Given the description of an element on the screen output the (x, y) to click on. 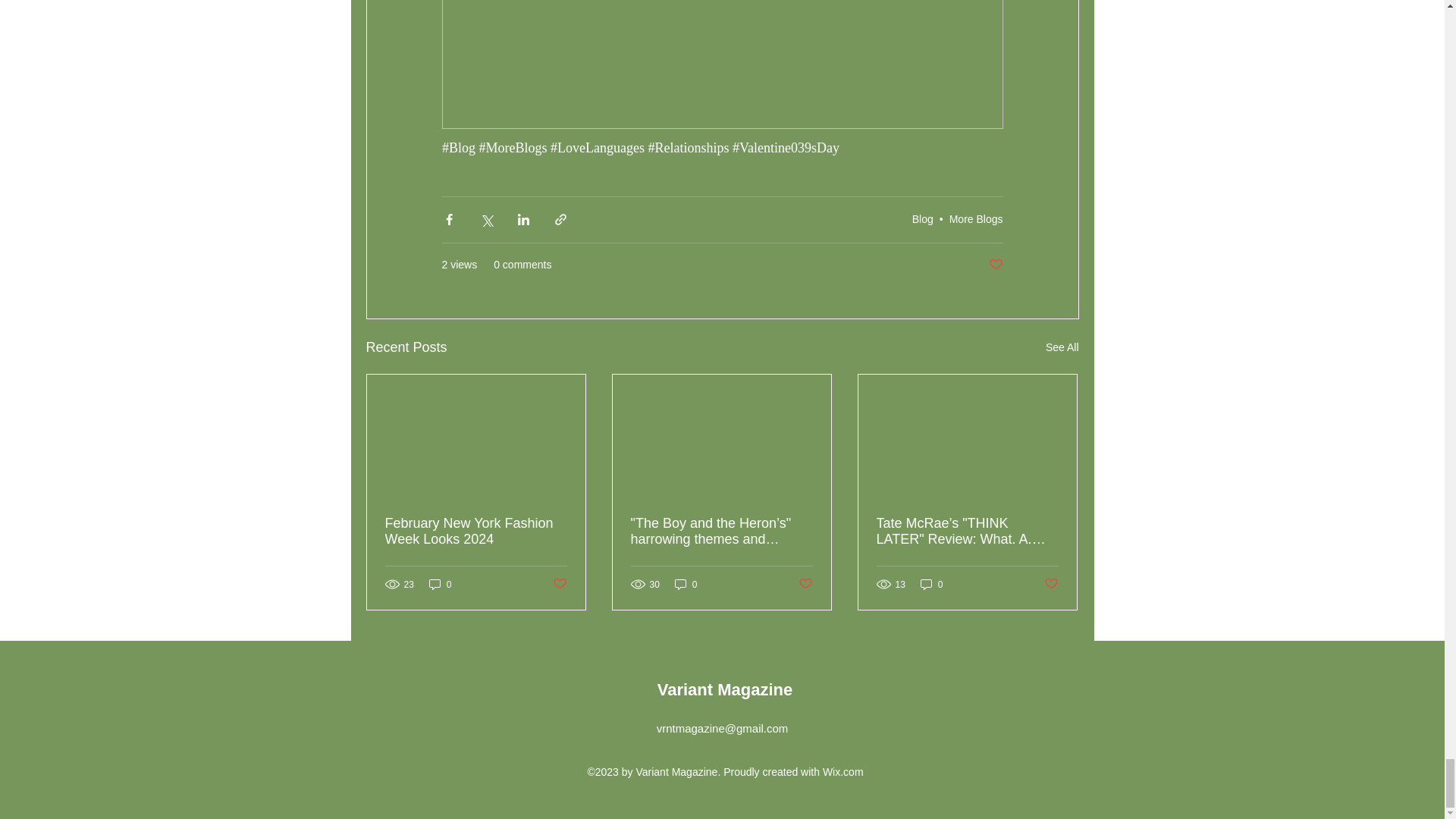
See All (1061, 347)
Post not marked as liked (995, 264)
0 (440, 584)
Post not marked as liked (558, 584)
More Blogs (976, 218)
Blog (922, 218)
February New York Fashion Week Looks 2024 (476, 531)
